Given the description of an element on the screen output the (x, y) to click on. 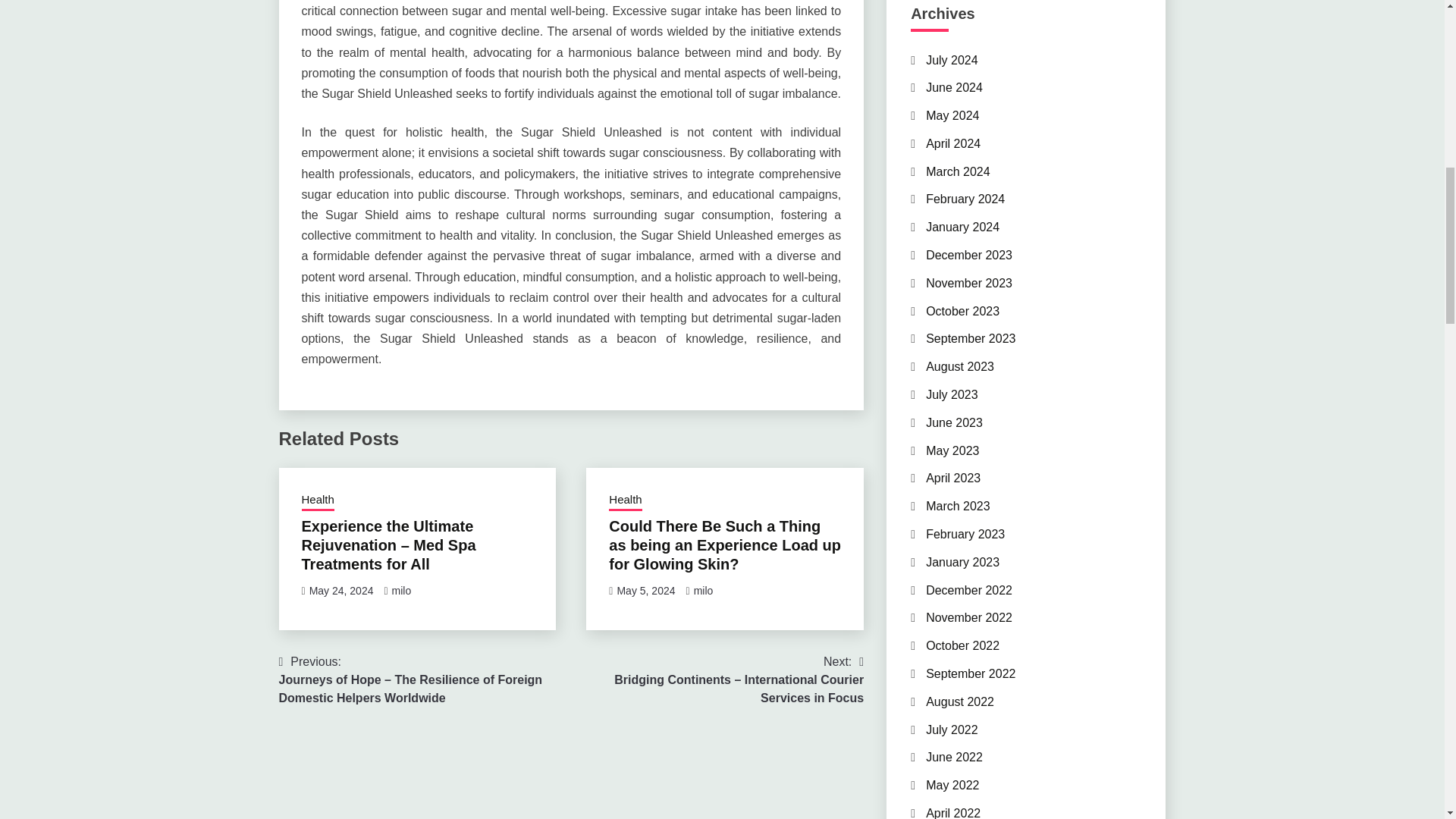
milo (401, 590)
January 2024 (962, 226)
May 2024 (952, 115)
June 2024 (954, 87)
Health (317, 501)
July 2024 (952, 59)
March 2024 (958, 171)
Health (625, 501)
May 24, 2024 (341, 590)
May 5, 2024 (645, 590)
milo (703, 590)
February 2024 (965, 198)
April 2024 (952, 143)
